Given the description of an element on the screen output the (x, y) to click on. 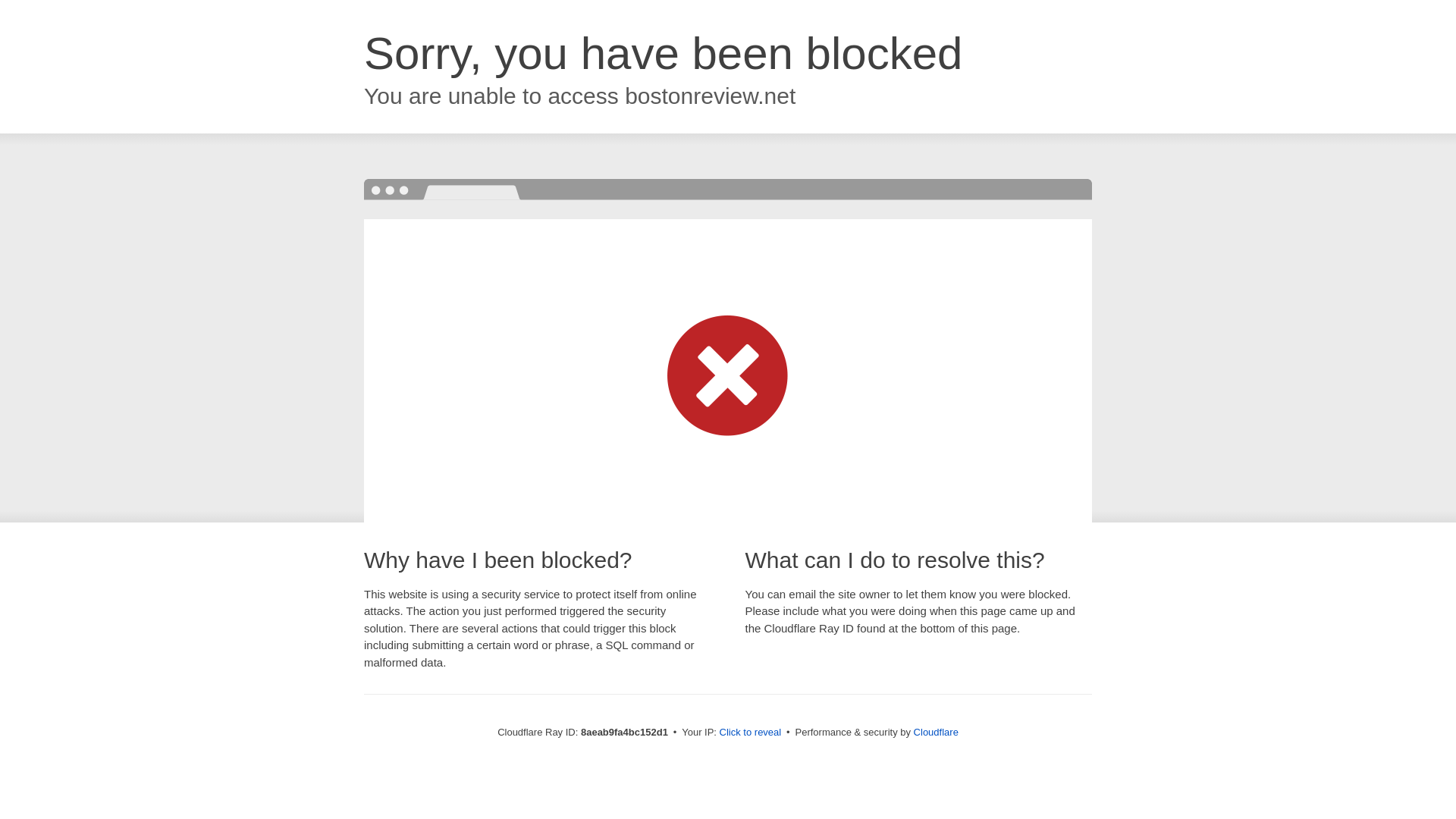
Click to reveal (750, 732)
Cloudflare (936, 731)
